Given the description of an element on the screen output the (x, y) to click on. 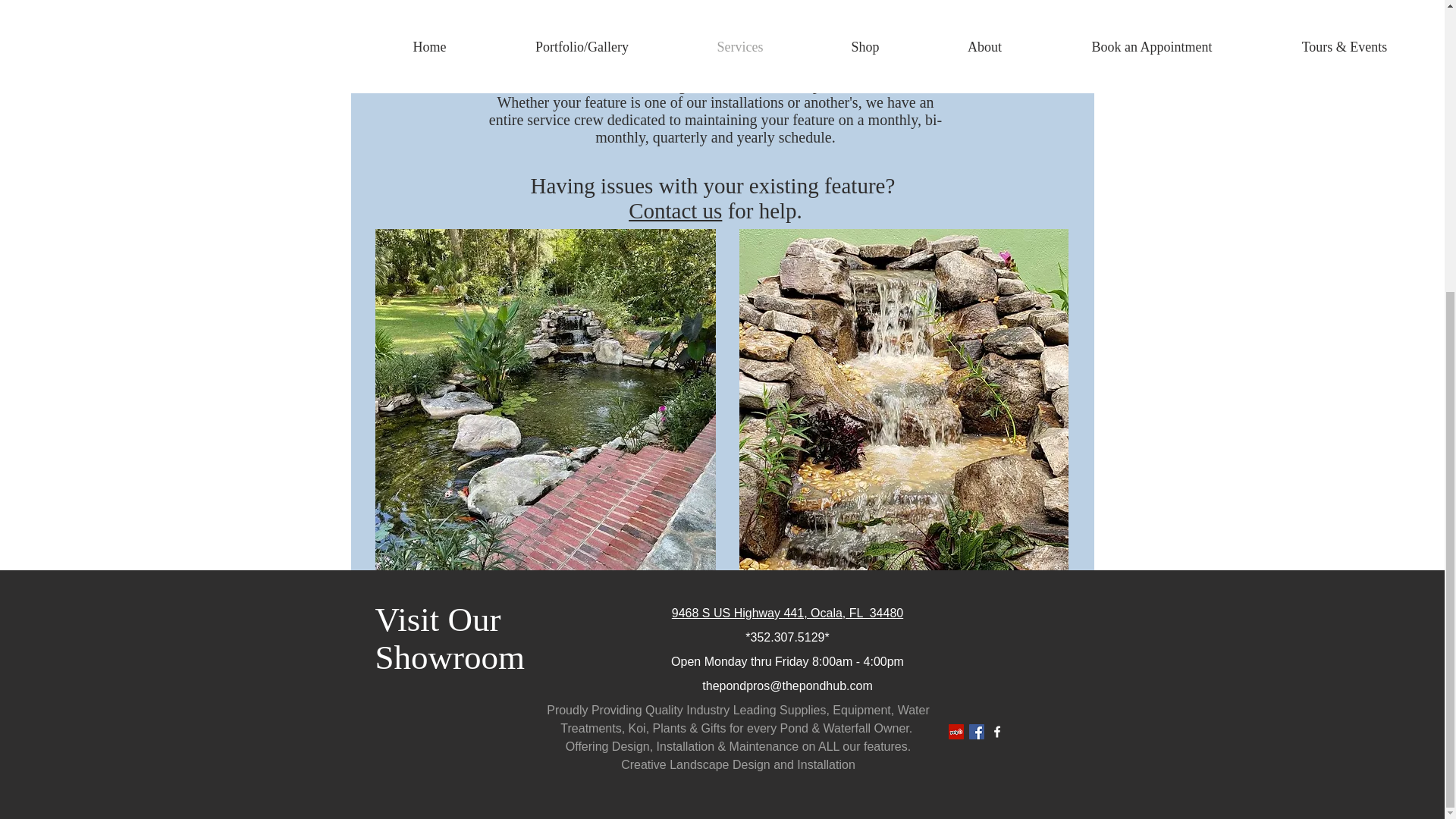
9468 S US Highway 441, Ocala, FL  34480 (786, 612)
Contact us (637, 4)
Contact us (675, 210)
